Given the description of an element on the screen output the (x, y) to click on. 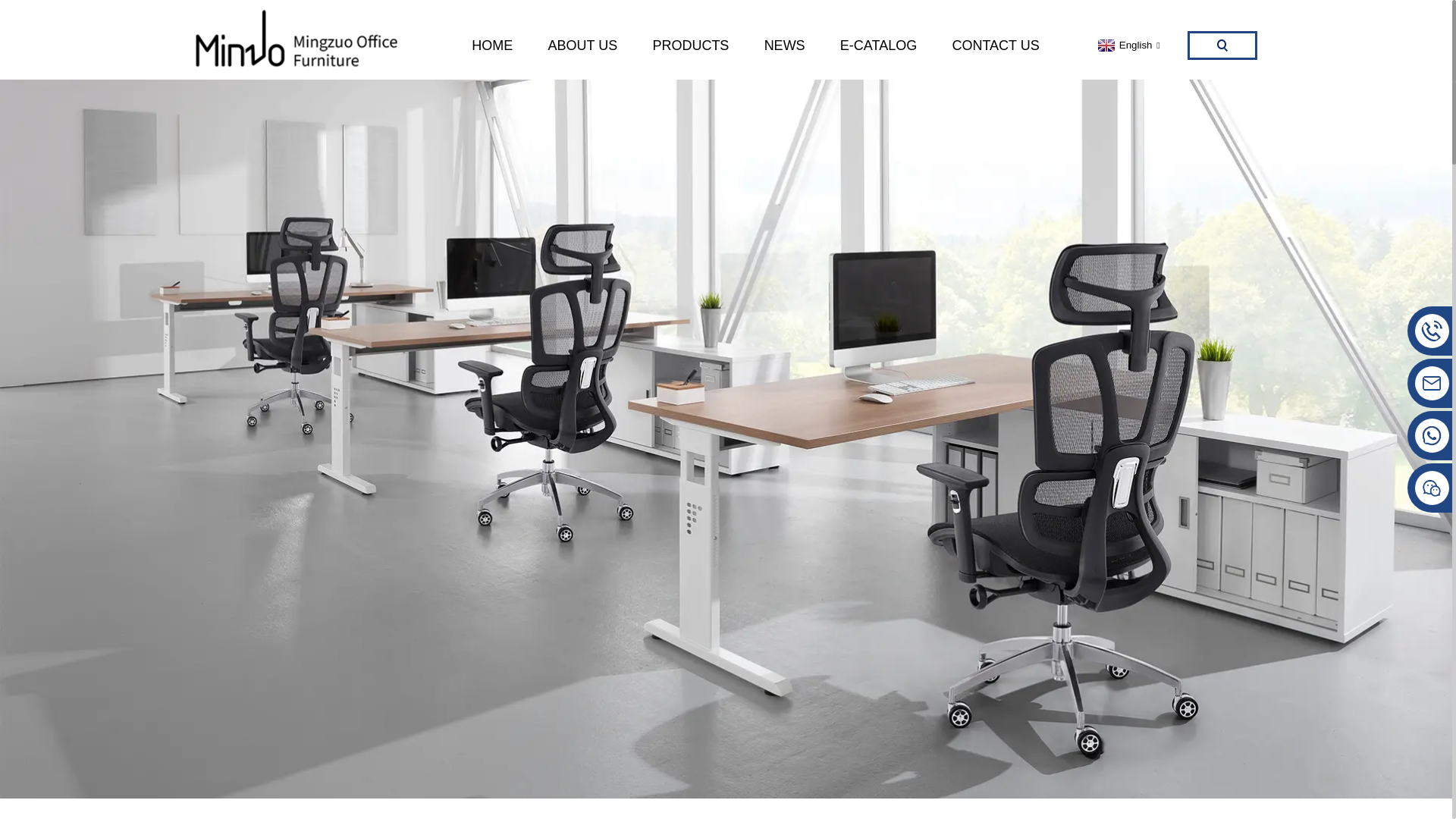
NEWS (784, 45)
ABOUT US (582, 45)
CONTACT US (995, 45)
E-CATALOG (878, 45)
English (1127, 44)
PRODUCTS (690, 45)
HOME (491, 45)
